Given the description of an element on the screen output the (x, y) to click on. 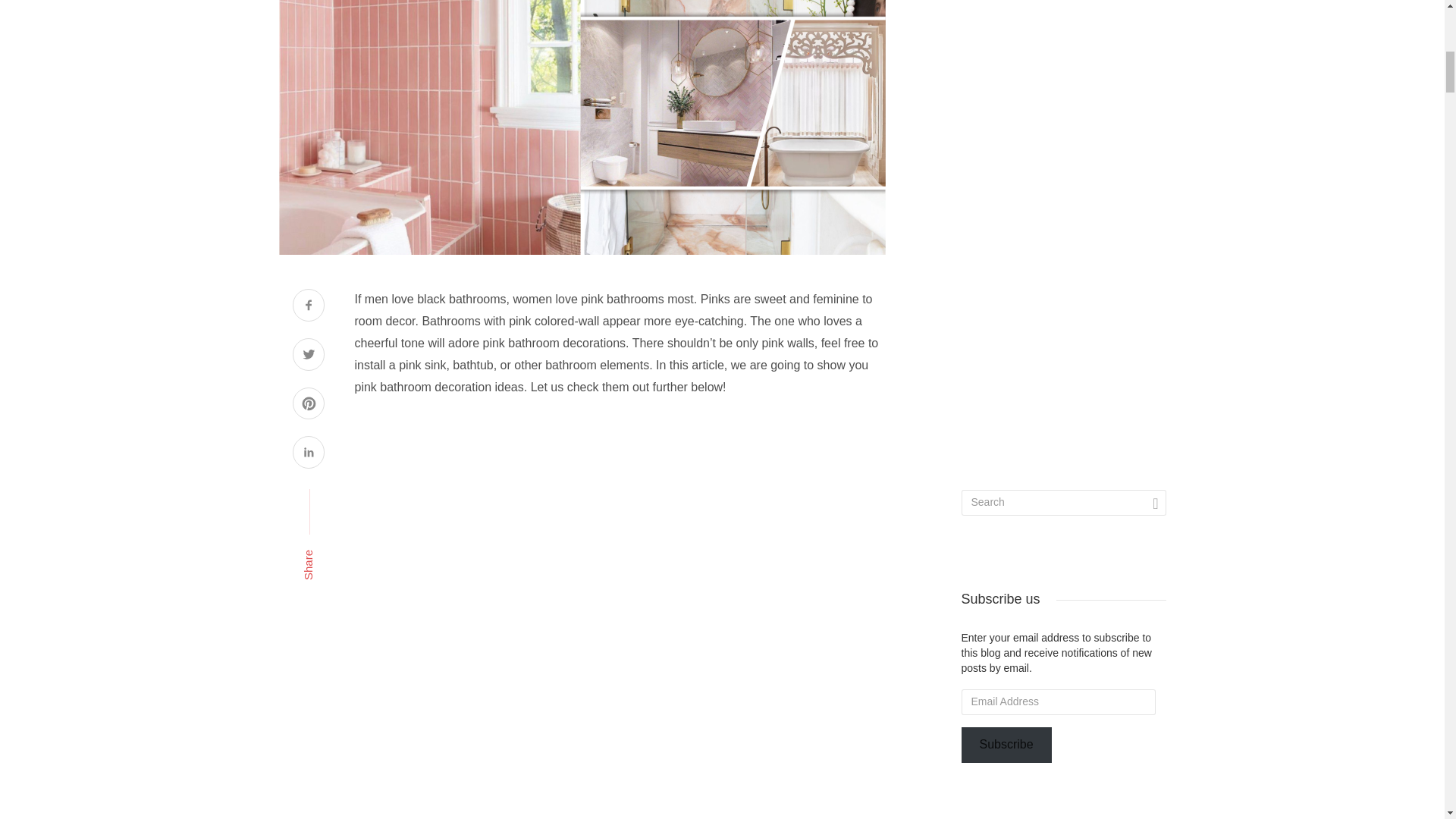
Share on Facebook (308, 307)
Share on Twitter (308, 356)
Share on Linkedin (308, 453)
Share on Pinterest (308, 405)
